Given the description of an element on the screen output the (x, y) to click on. 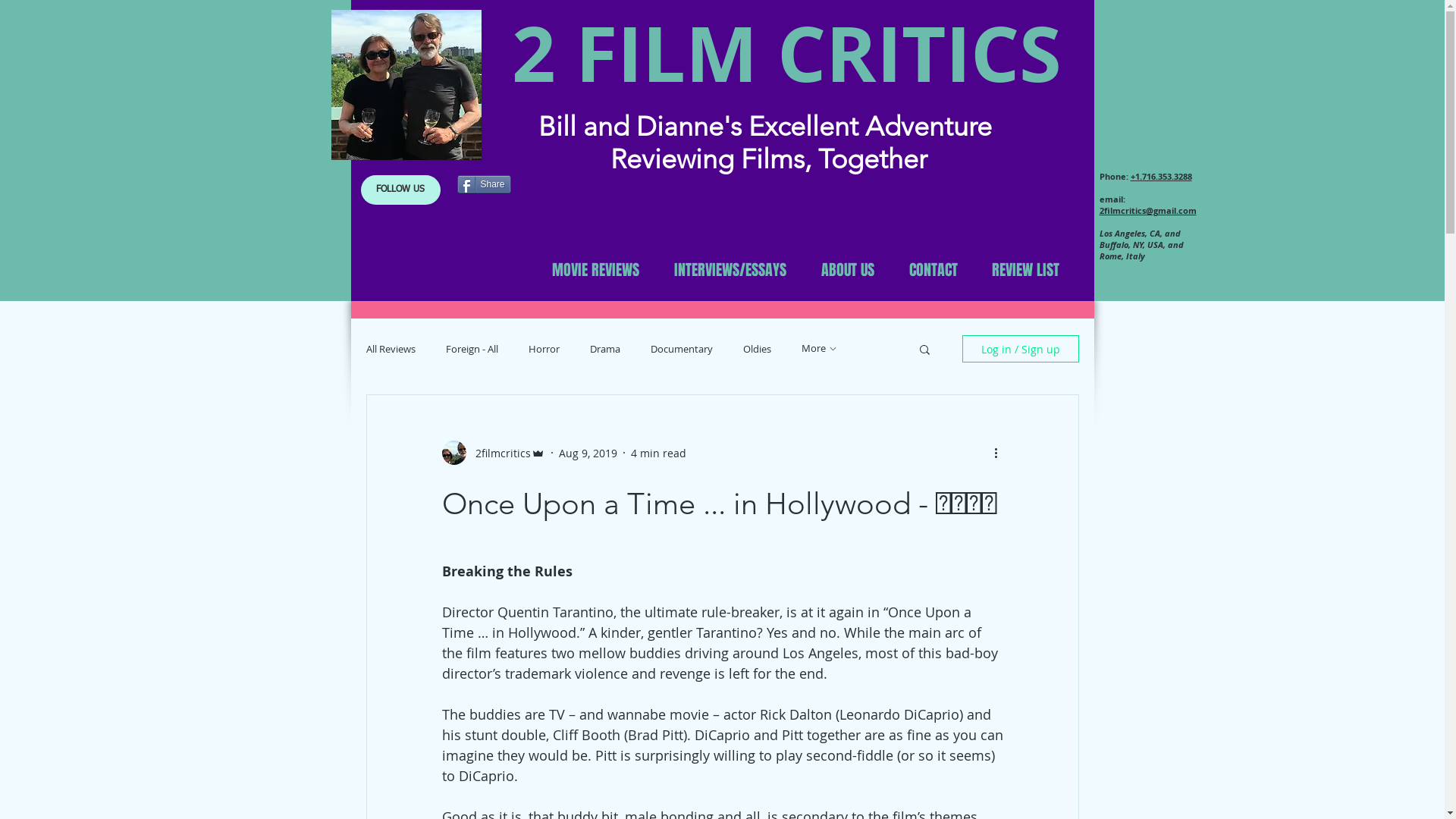
Site Search Element type: hover (443, 272)
MOVIE REVIEWS Element type: text (594, 270)
FOLLOW US Element type: text (400, 189)
Documentary Element type: text (681, 348)
CONTACT Element type: text (933, 270)
INTERVIEWS/ESSAYS Element type: text (729, 270)
Log in / Sign up Element type: text (1019, 348)
REVIEW LIST Element type: text (1025, 270)
Foreign - All Element type: text (471, 348)
ABOUT US Element type: text (847, 270)
Share Element type: text (483, 184)
2filmcritics@gmail.com Element type: text (1147, 210)
Horror Element type: text (542, 348)
All Reviews Element type: text (389, 348)
2 FILM CRITICS Element type: text (785, 53)
+1.716.353.3288 Element type: text (1160, 176)
Oldies Element type: text (757, 348)
Drama Element type: text (604, 348)
